Given the description of an element on the screen output the (x, y) to click on. 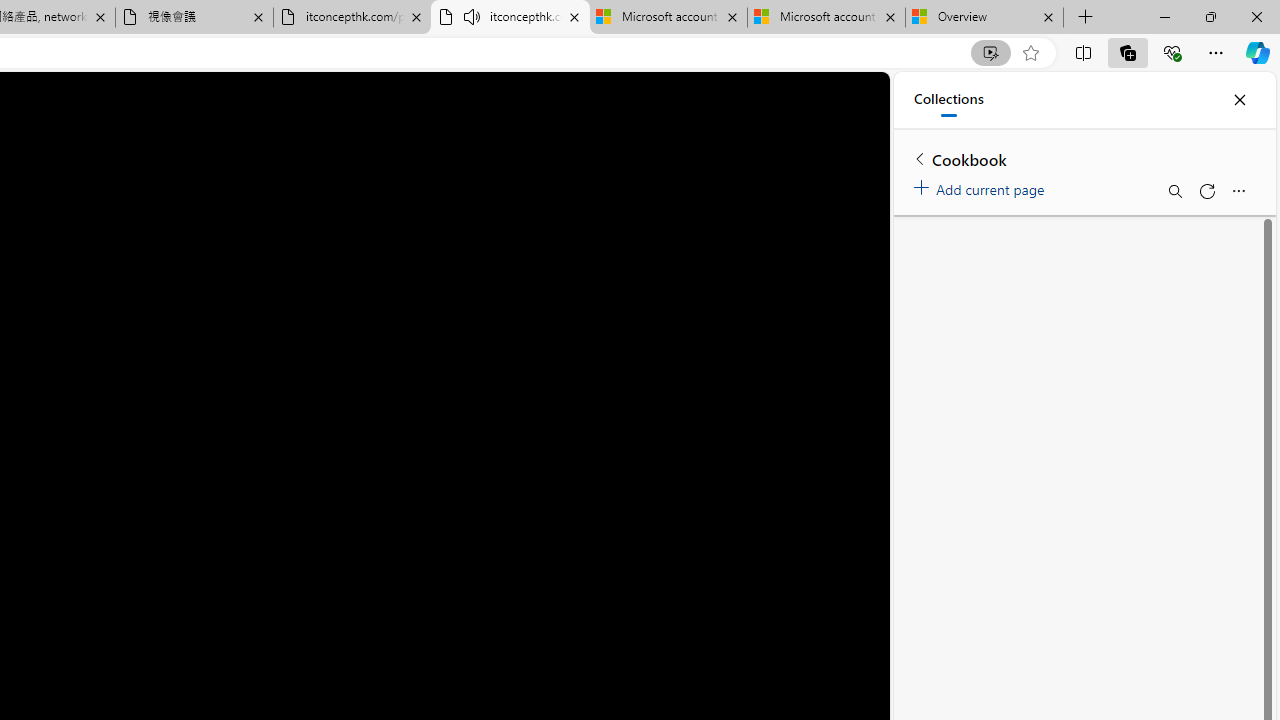
itconcepthk.com/projector_solutions.mp4 - Audio playing (509, 17)
itconcepthk.com/projector_solutions.mp4 (352, 17)
More options menu (1238, 190)
Add current page (982, 186)
